Given the description of an element on the screen output the (x, y) to click on. 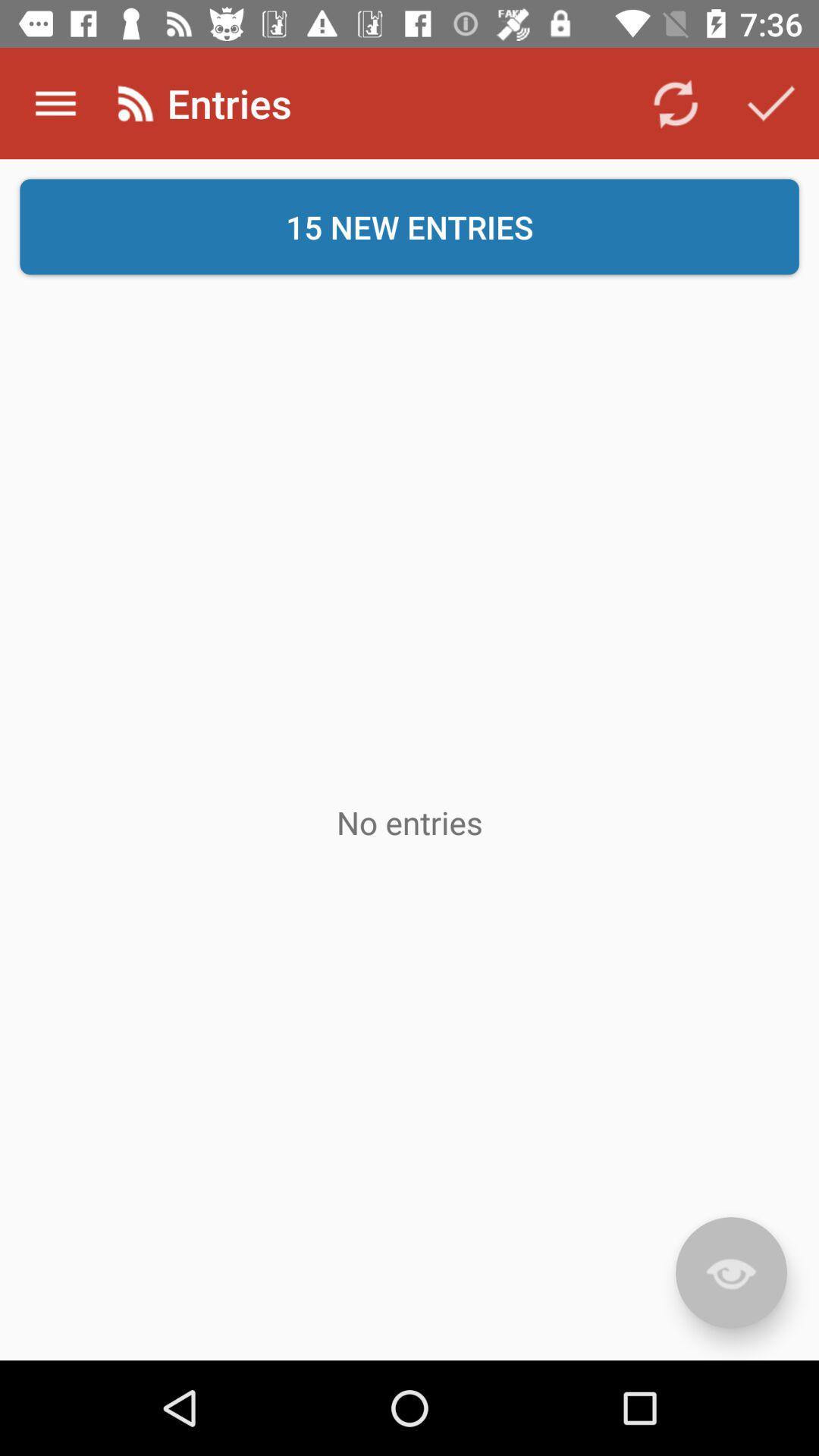
flip until 15 new entries icon (409, 226)
